Given the description of an element on the screen output the (x, y) to click on. 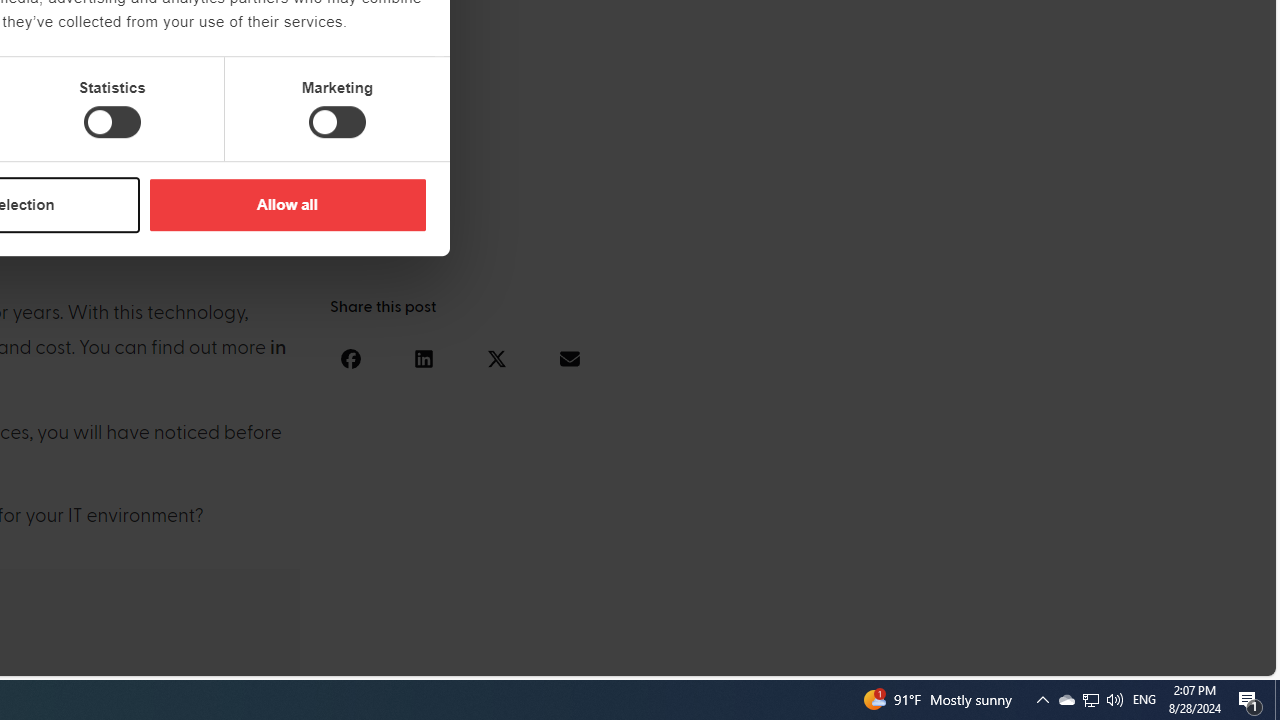
Language switcher : Finnish (1165, 657)
Language switcher : Danish (1025, 657)
Language switcher : Croatian (1045, 657)
Language switcher : Romanian (1126, 657)
Language switcher : Polish (1005, 657)
Language switcher : Swedish (1105, 657)
Language switcher : Czech (1205, 657)
Language switcher : German (885, 657)
Language switcher : French (906, 657)
Language switcher : Greek (1145, 657)
